Given the description of an element on the screen output the (x, y) to click on. 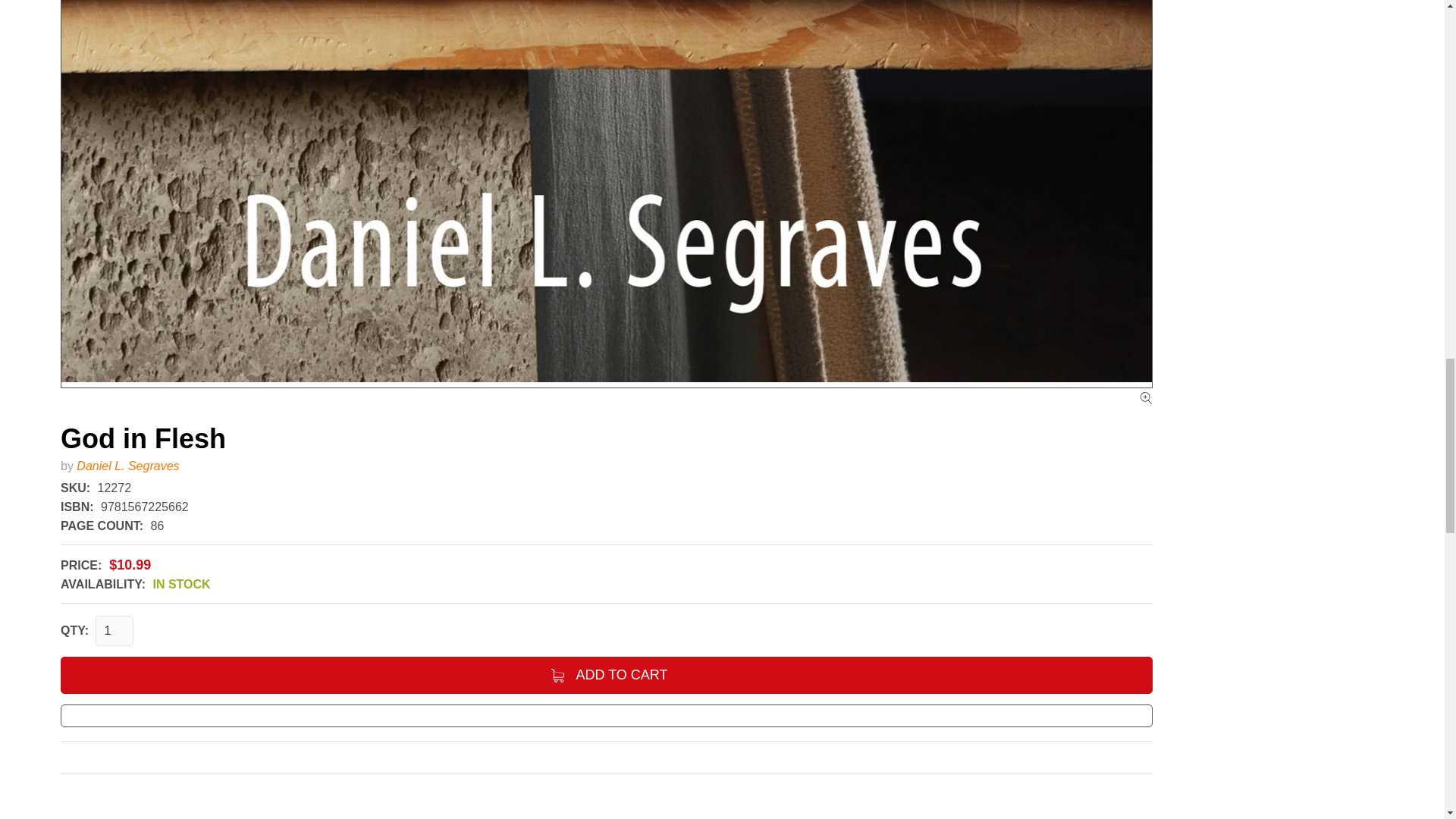
1 (114, 630)
